Given the description of an element on the screen output the (x, y) to click on. 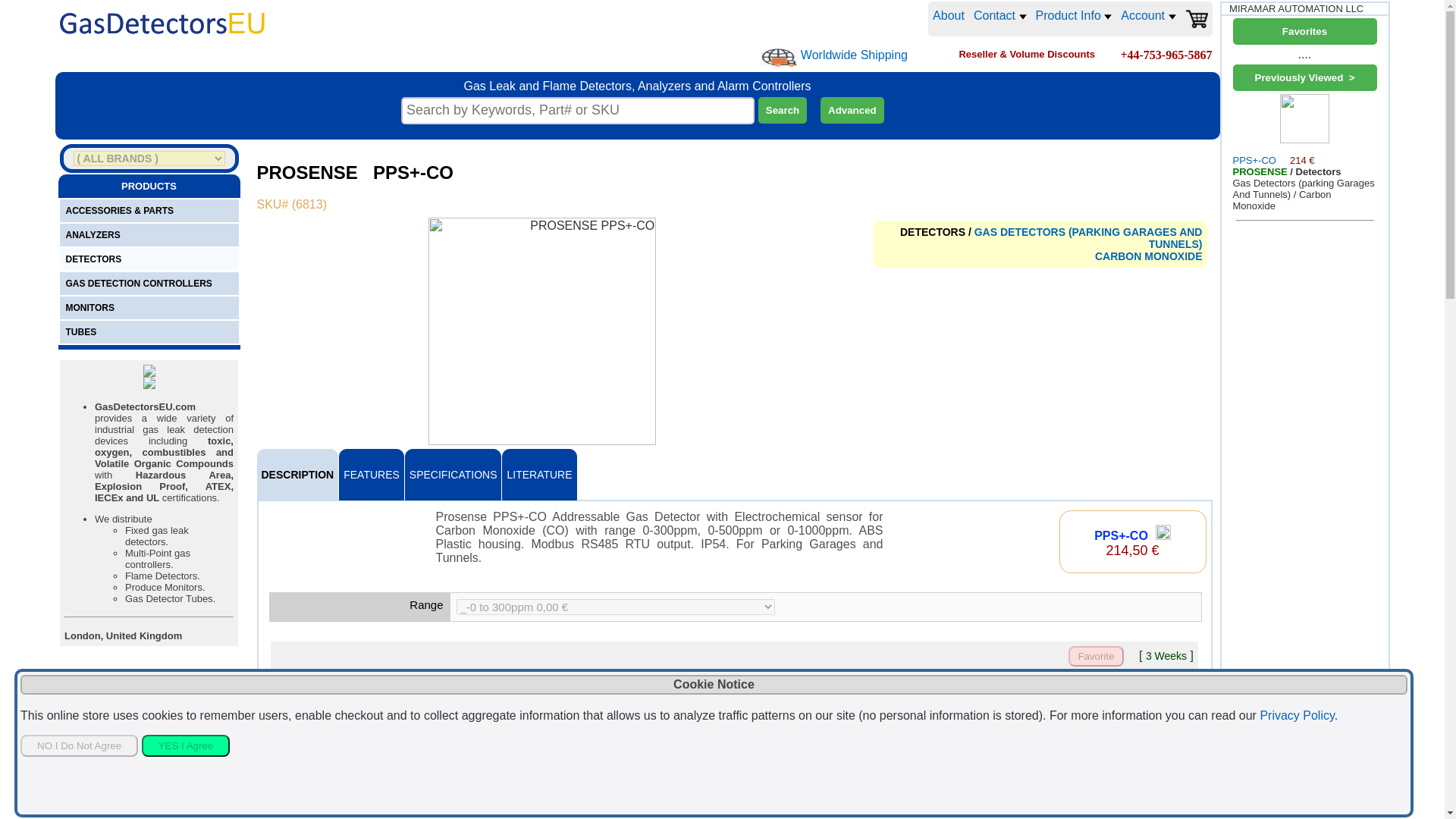
Add to Cart   (1144, 705)
Advanced (852, 110)
Shopping Cart (1195, 18)
YES I Agree (185, 745)
About (948, 18)
Worldwide Shipping (778, 57)
Favorites (1305, 31)
Worldwide Shipping (853, 55)
Favorite (1095, 656)
Favorites (1305, 31)
About GasDetectorsEU.com (948, 18)
Account (1147, 15)
Search (782, 110)
Search (782, 110)
Search (782, 110)
